Given the description of an element on the screen output the (x, y) to click on. 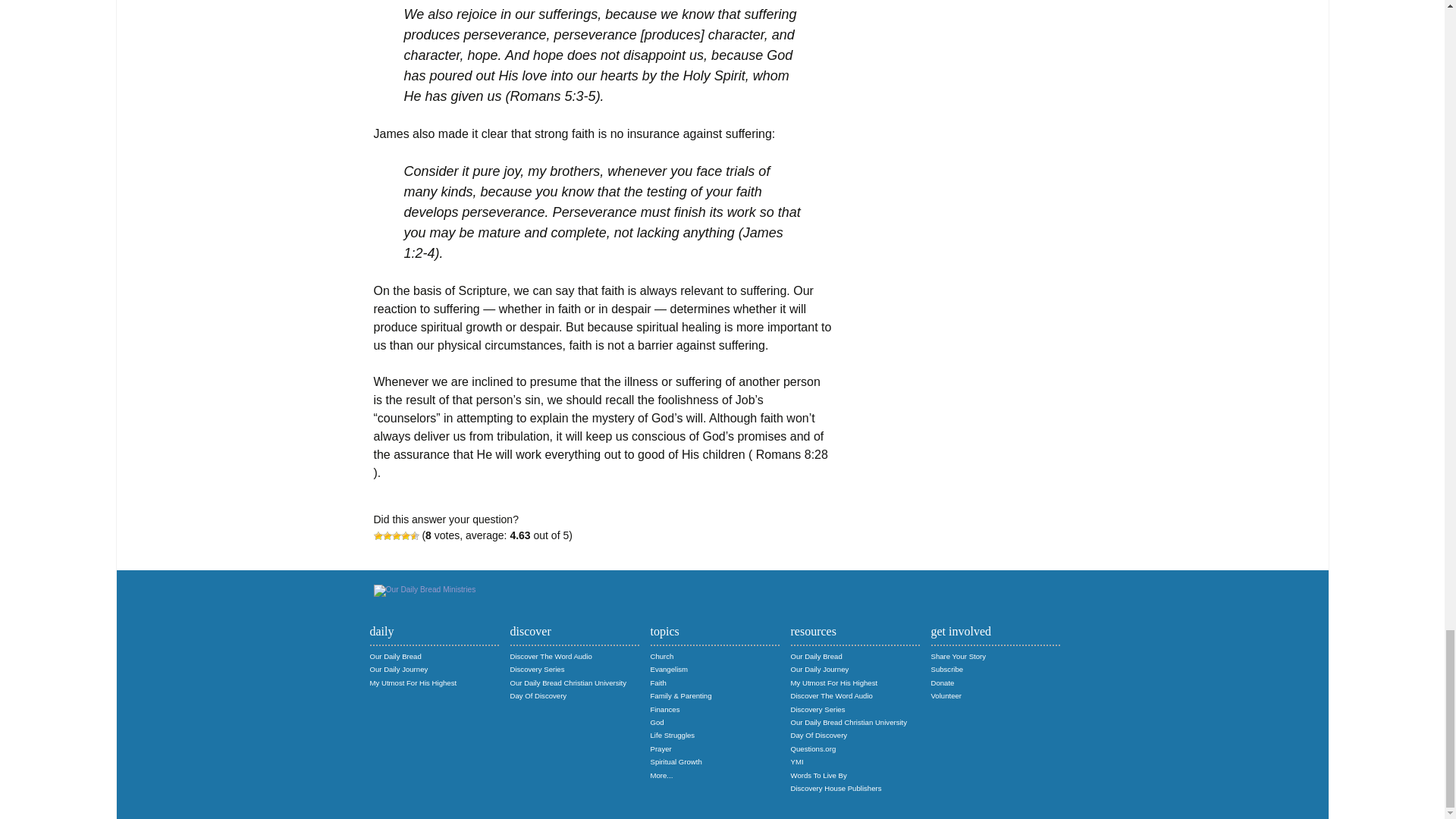
1 Star (376, 535)
4 Stars (404, 535)
5 Stars (414, 535)
3 Stars (395, 535)
2 Stars (386, 535)
